Given the description of an element on the screen output the (x, y) to click on. 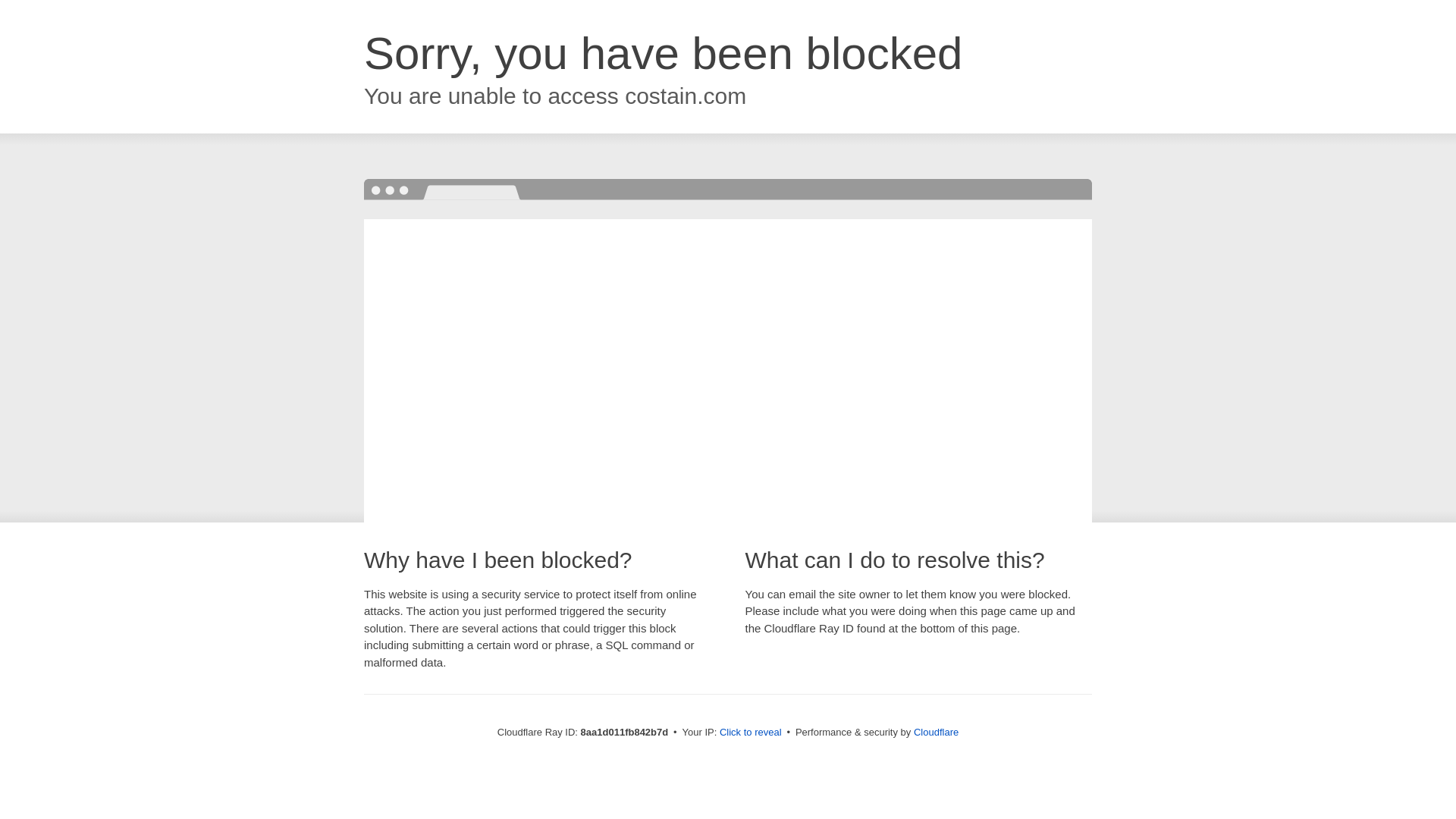
Click to reveal (750, 732)
Cloudflare (936, 731)
